Given the description of an element on the screen output the (x, y) to click on. 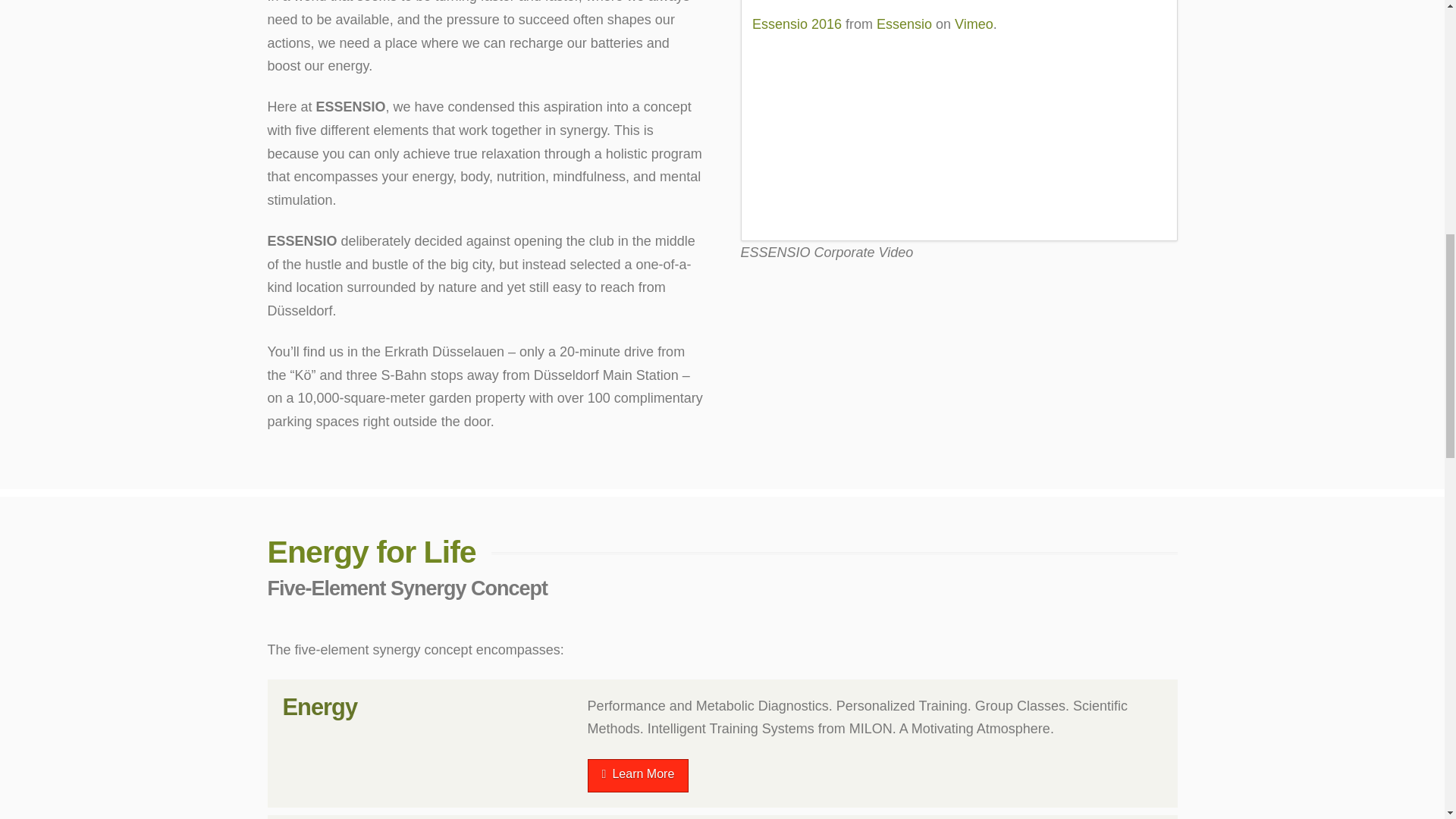
Vimeo (973, 23)
Video laden (793, 52)
Essensio 2016 (796, 23)
1 (767, 87)
Essensio (903, 23)
Mehr erfahren (782, 12)
Learn More (638, 776)
